Given the description of an element on the screen output the (x, y) to click on. 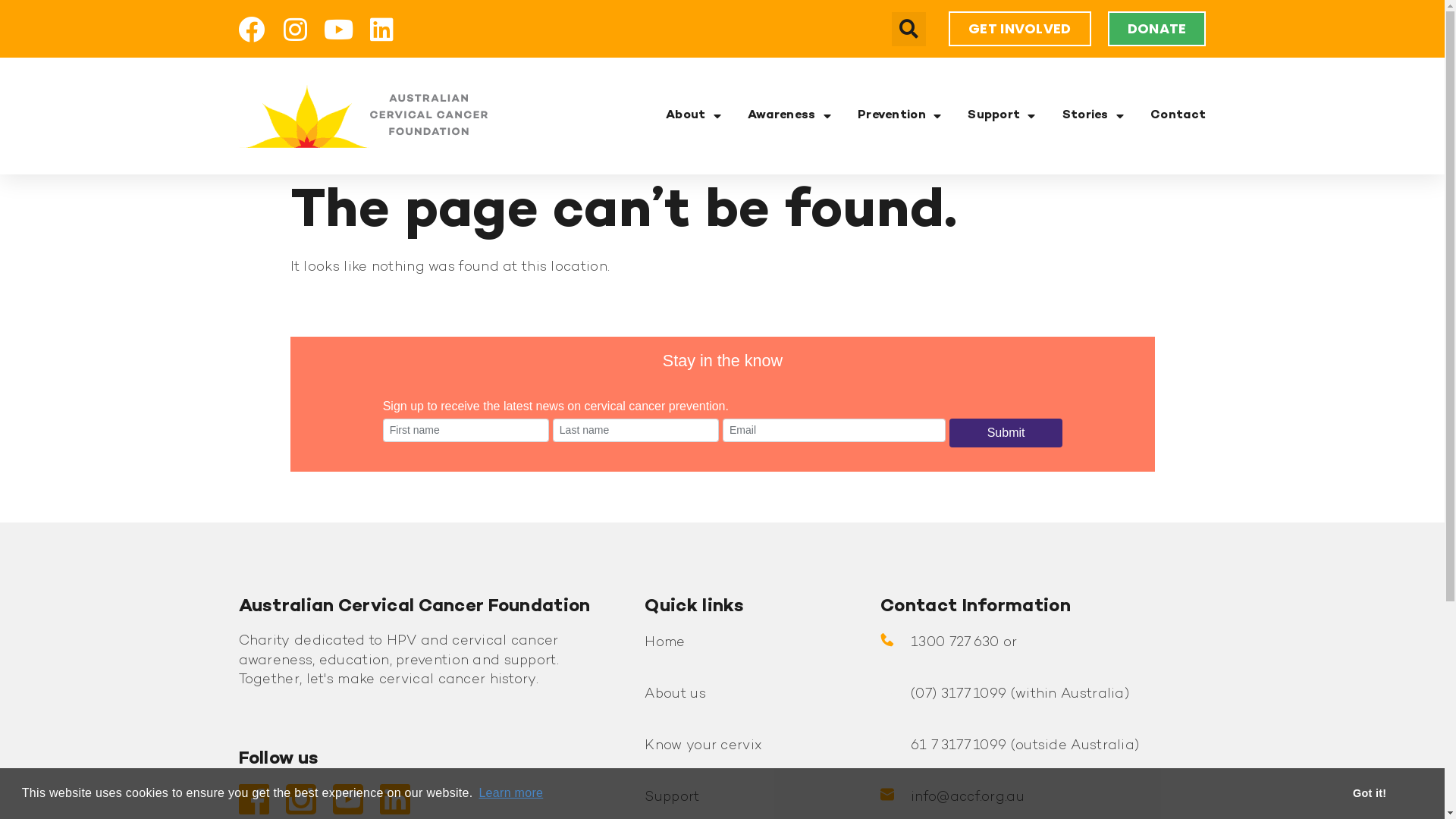
Home Element type: text (664, 642)
Group 78 Element type: hover (362, 115)
Contact Element type: text (1177, 115)
About Element type: text (693, 115)
GET INVOLVED Element type: text (1019, 28)
Stories Element type: text (1092, 115)
1300 727 630 or Element type: text (963, 642)
61 7 3177 1099 Element type: text (958, 745)
(07) 3177 1099 Element type: text (958, 694)
Support Element type: text (1001, 115)
Awareness Element type: text (789, 115)
Know your cervix Element type: text (703, 745)
info@accf.org.au Element type: text (967, 797)
Learn more Element type: text (510, 792)
Support Element type: text (671, 797)
DONATE Element type: text (1156, 28)
About us Element type: text (674, 694)
Got it! Element type: text (1369, 792)
Prevention Element type: text (899, 115)
